Given the description of an element on the screen output the (x, y) to click on. 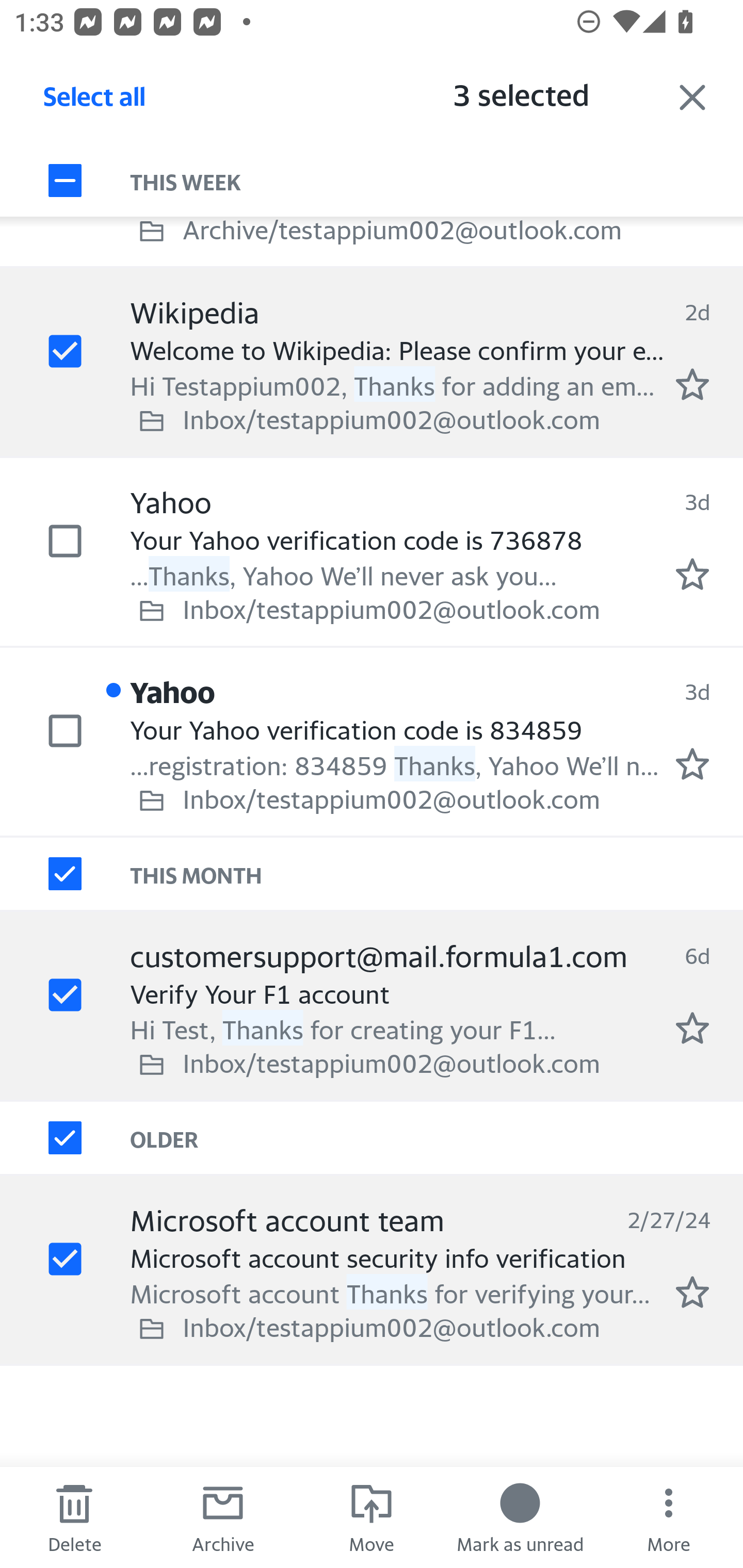
Exit selection mode (692, 97)
Select all (94, 101)
Mark as starred. (692, 384)
Mark as starred. (692, 574)
Mark as starred. (692, 764)
THIS MONTH (436, 873)
Mark as starred. (692, 1027)
OLDER (436, 1137)
Mark as starred. (692, 1291)
Delete (74, 1517)
Archive (222, 1517)
Move (371, 1517)
Mark as unread (519, 1517)
More (668, 1517)
